Given the description of an element on the screen output the (x, y) to click on. 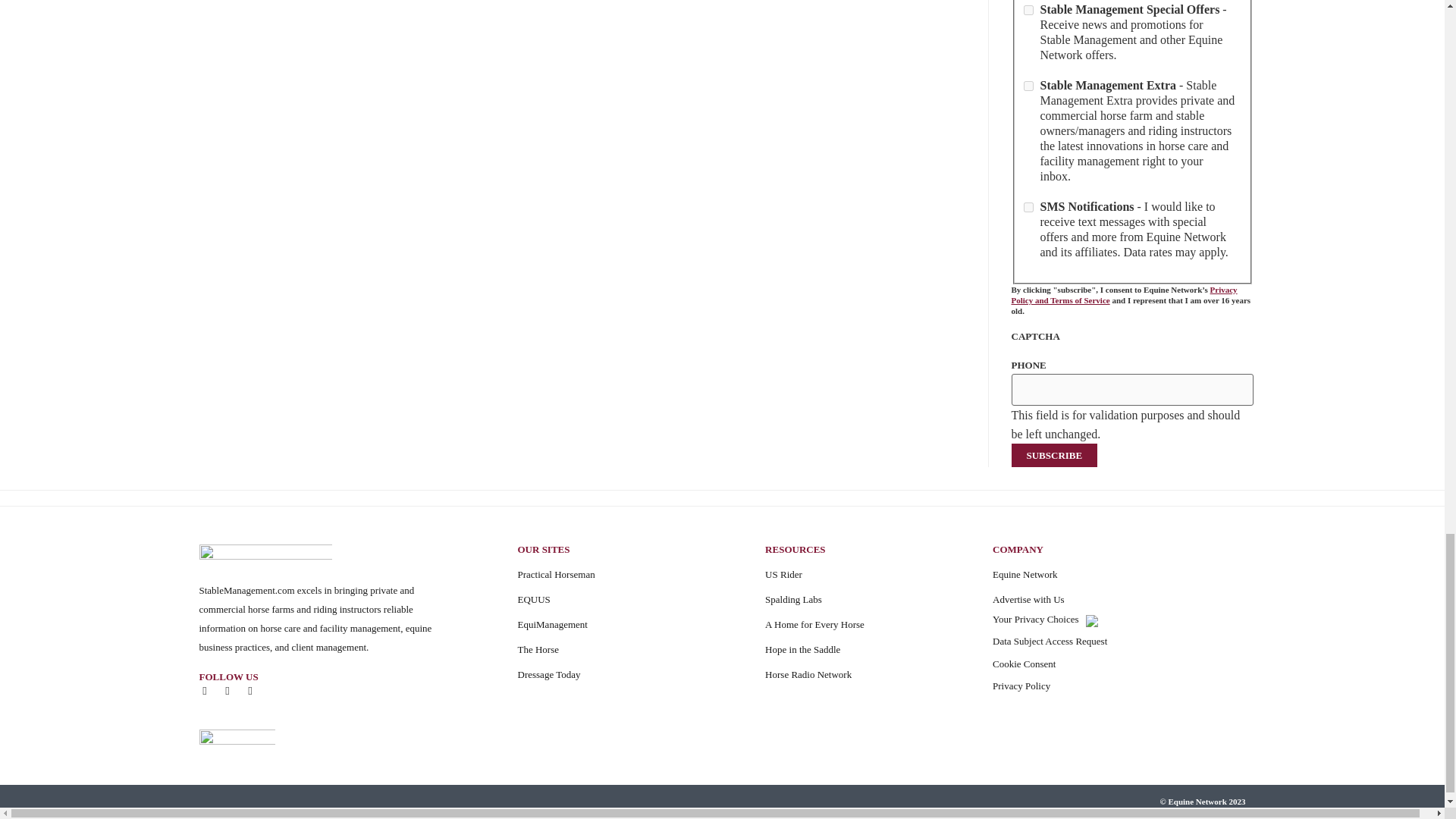
7d0c6f1d-69c5-4522-93be-35477d857179 (1028, 85)
4abea021-0715-4258-8505-deecee9d4fc1 (1028, 9)
SMS Notifications (1028, 207)
Subscribe (1054, 454)
